Given the description of an element on the screen output the (x, y) to click on. 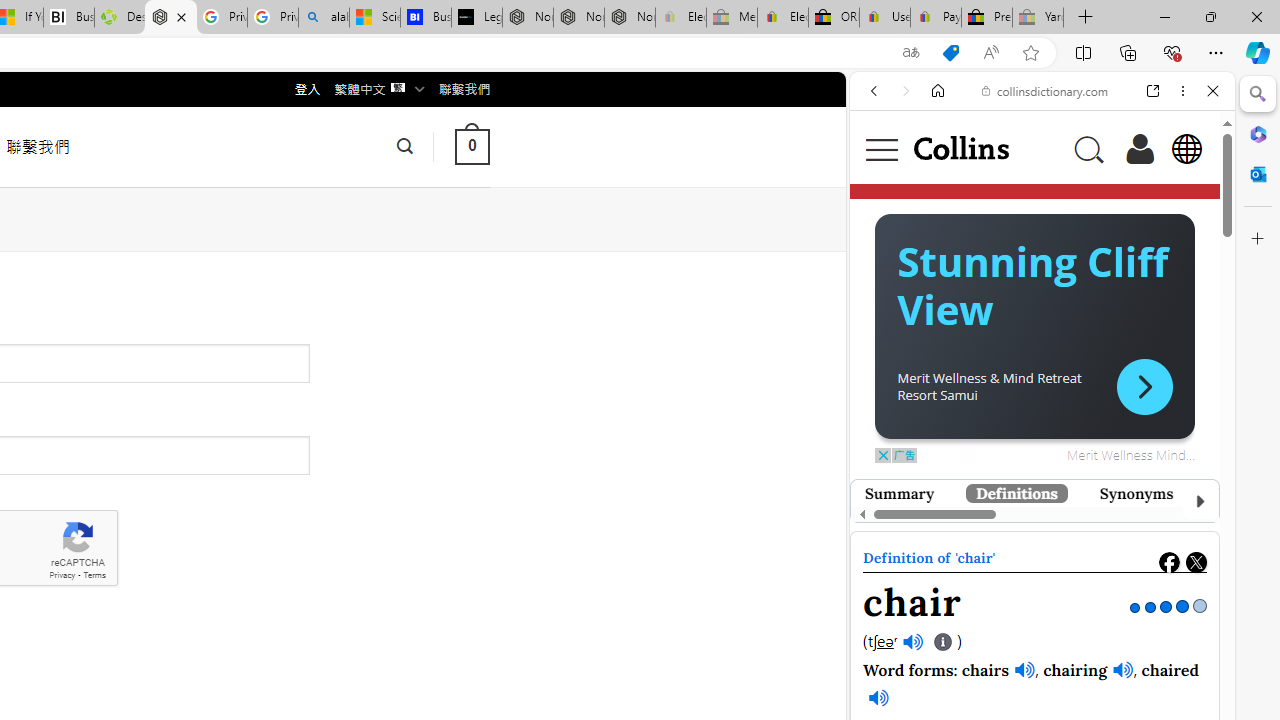
Summary (899, 493)
Go to the homepage (960, 148)
Descarga Driver Updater (119, 17)
Synonyms (1136, 493)
This site has coupons! Shopping in Microsoft Edge (950, 53)
Share this page on Twitter (1196, 562)
pronounce (893, 382)
